Given the description of an element on the screen output the (x, y) to click on. 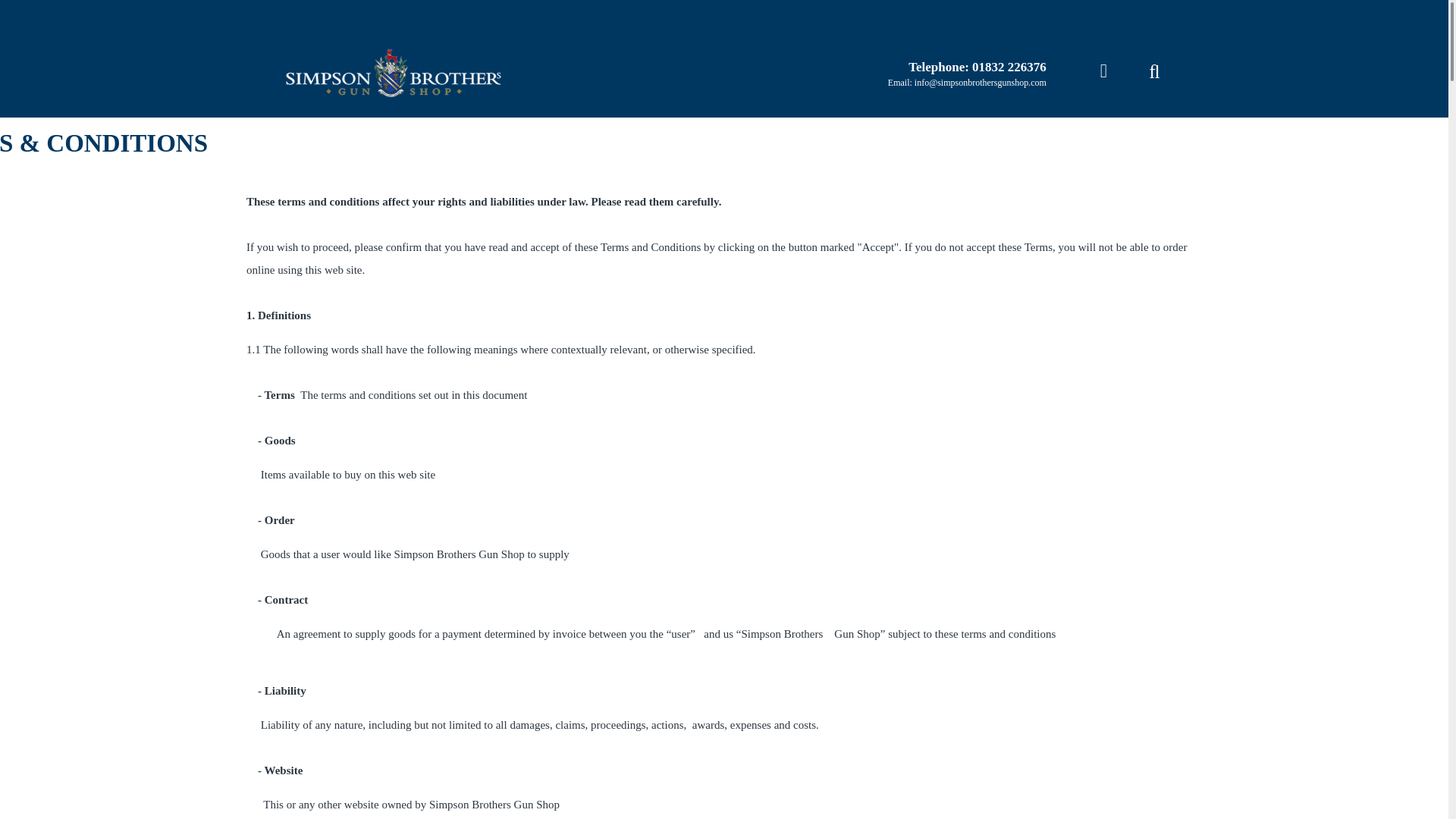
Wishlist (1165, 12)
Order History (1099, 12)
Simpson Brothers Gunshop (389, 72)
Login (987, 12)
Register (1034, 12)
